Given the description of an element on the screen output the (x, y) to click on. 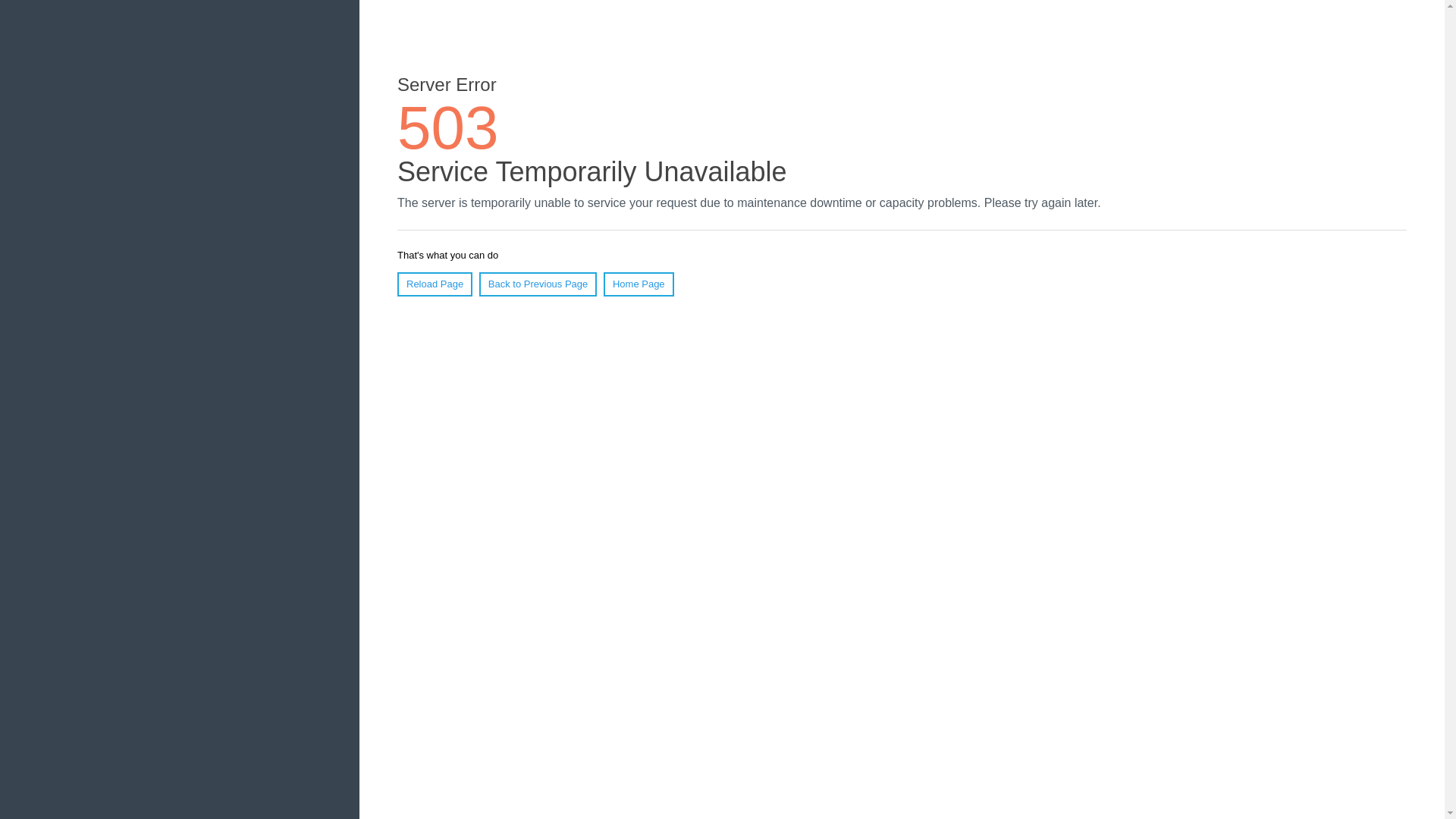
Reload Page (434, 283)
Back to Previous Page (537, 283)
Home Page (639, 283)
